Given the description of an element on the screen output the (x, y) to click on. 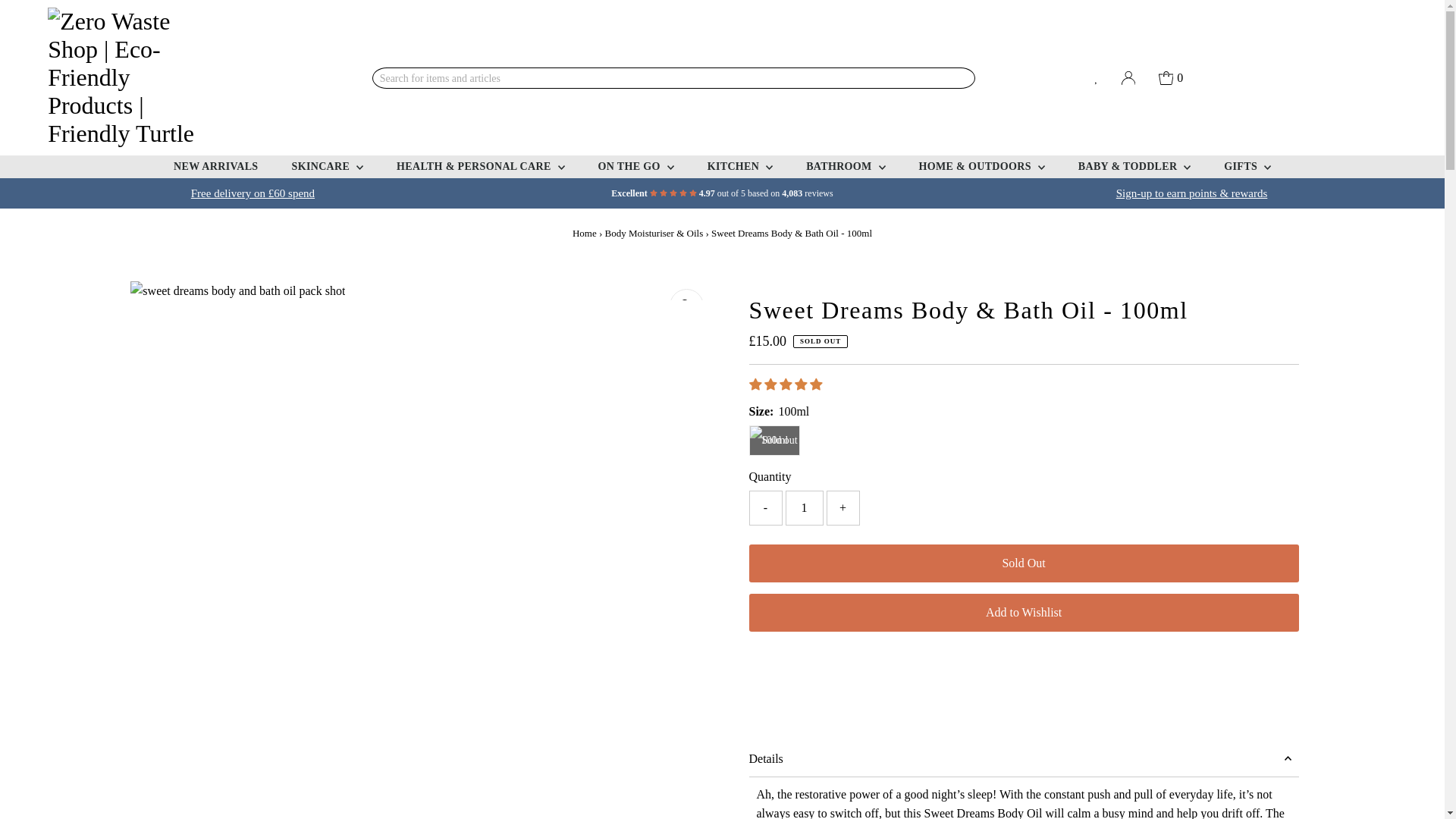
1 (805, 507)
All products (252, 193)
login (1192, 193)
Sold Out (1023, 563)
Home (584, 233)
Click to zoom (685, 305)
